Given the description of an element on the screen output the (x, y) to click on. 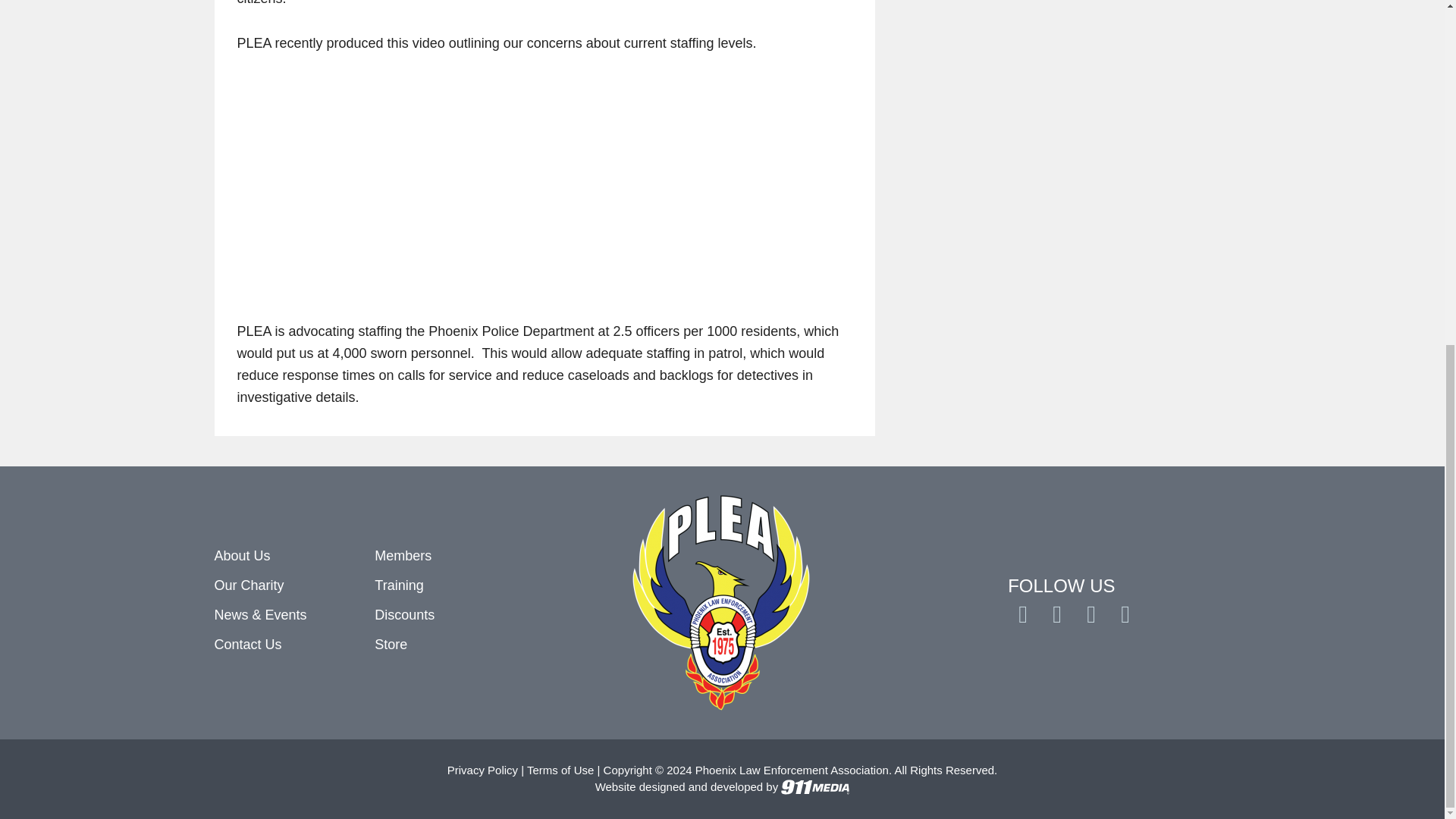
PLEA Staffing PSA 1 (425, 183)
